Given the description of an element on the screen output the (x, y) to click on. 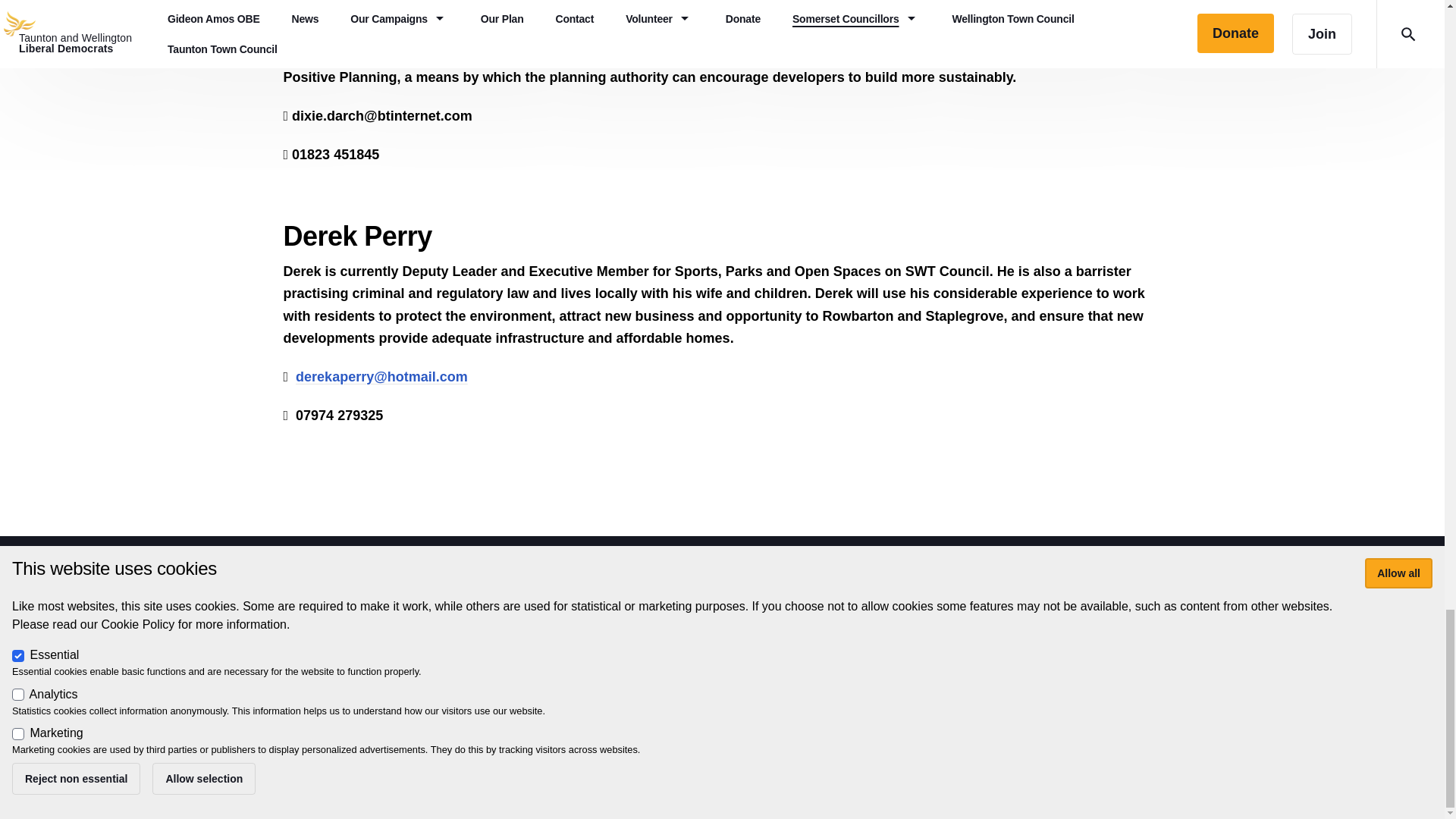
Prater Raines (370, 724)
cookie policy (741, 676)
accessibility statement (635, 676)
Liberal Democrats (406, 706)
